Given the description of an element on the screen output the (x, y) to click on. 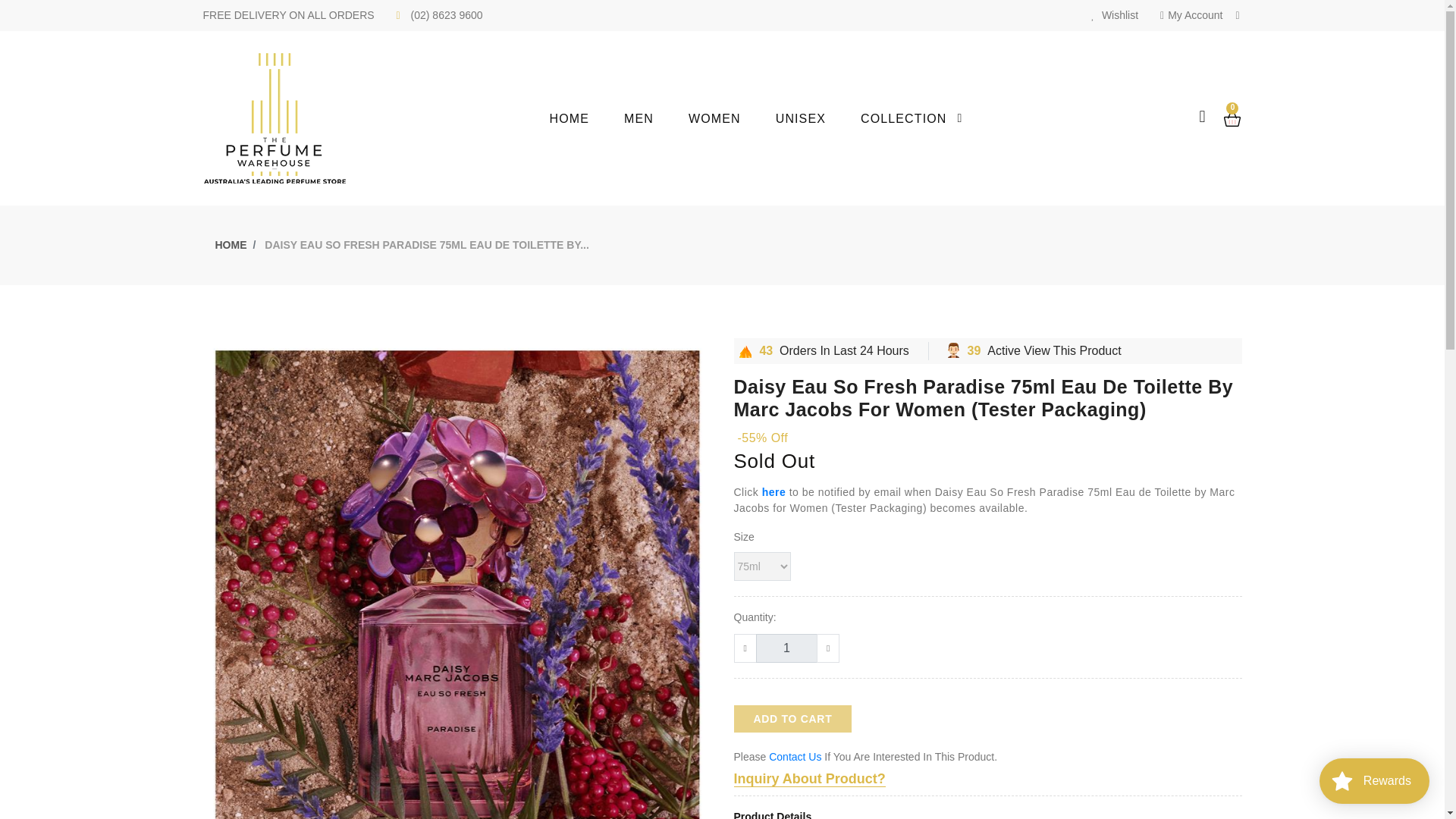
COLLECTION (920, 117)
UNISEX (818, 117)
WOMEN (732, 117)
Contact Us (794, 756)
1 (785, 647)
here (773, 491)
Wishlist (1114, 15)
Inquiry About Product? (809, 779)
MEN (656, 117)
HOME (587, 117)
HOME (231, 244)
ADD TO CART (792, 718)
